Given the description of an element on the screen output the (x, y) to click on. 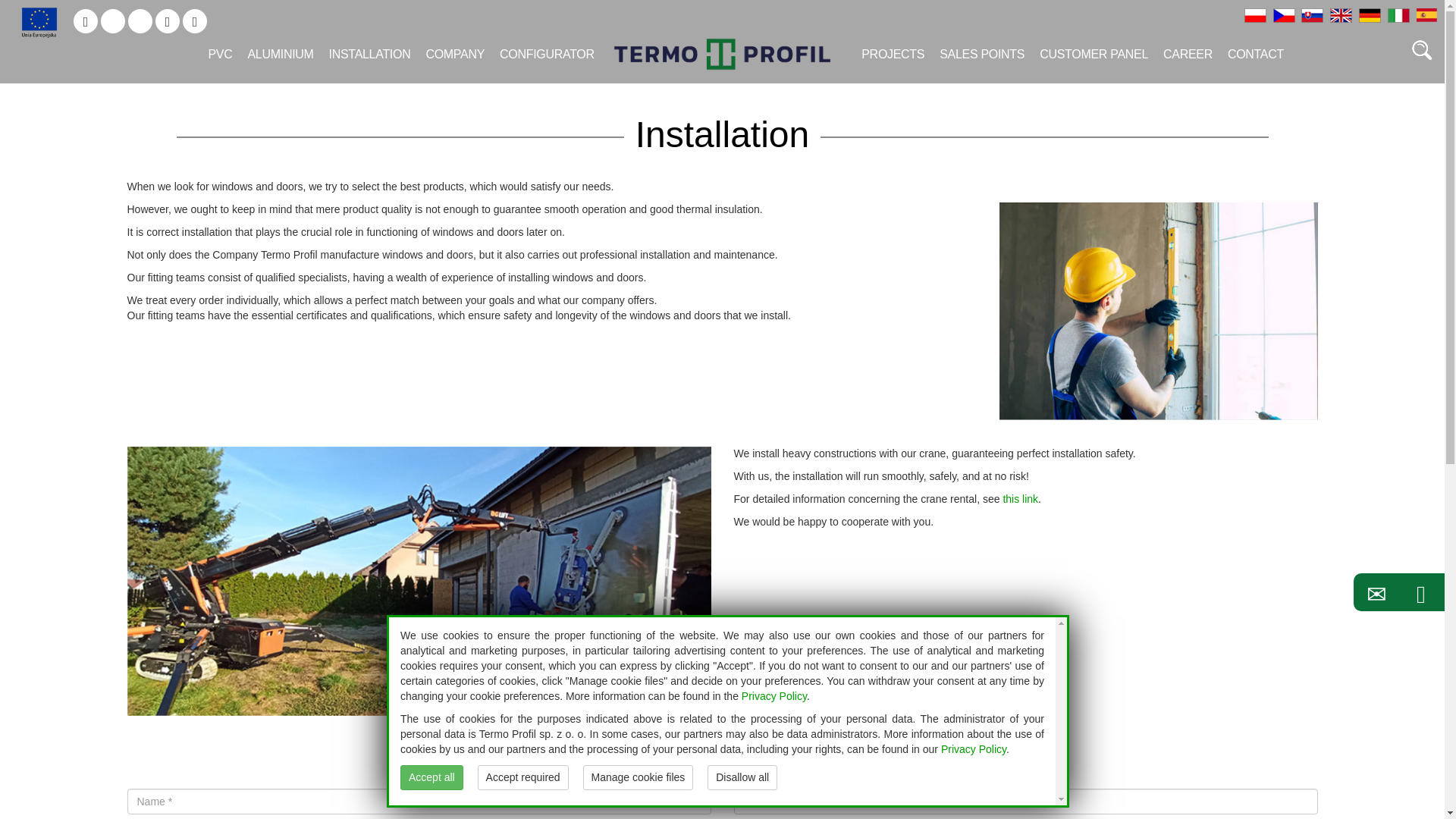
ALUMINIUM (280, 54)
PVC (220, 54)
